Given the description of an element on the screen output the (x, y) to click on. 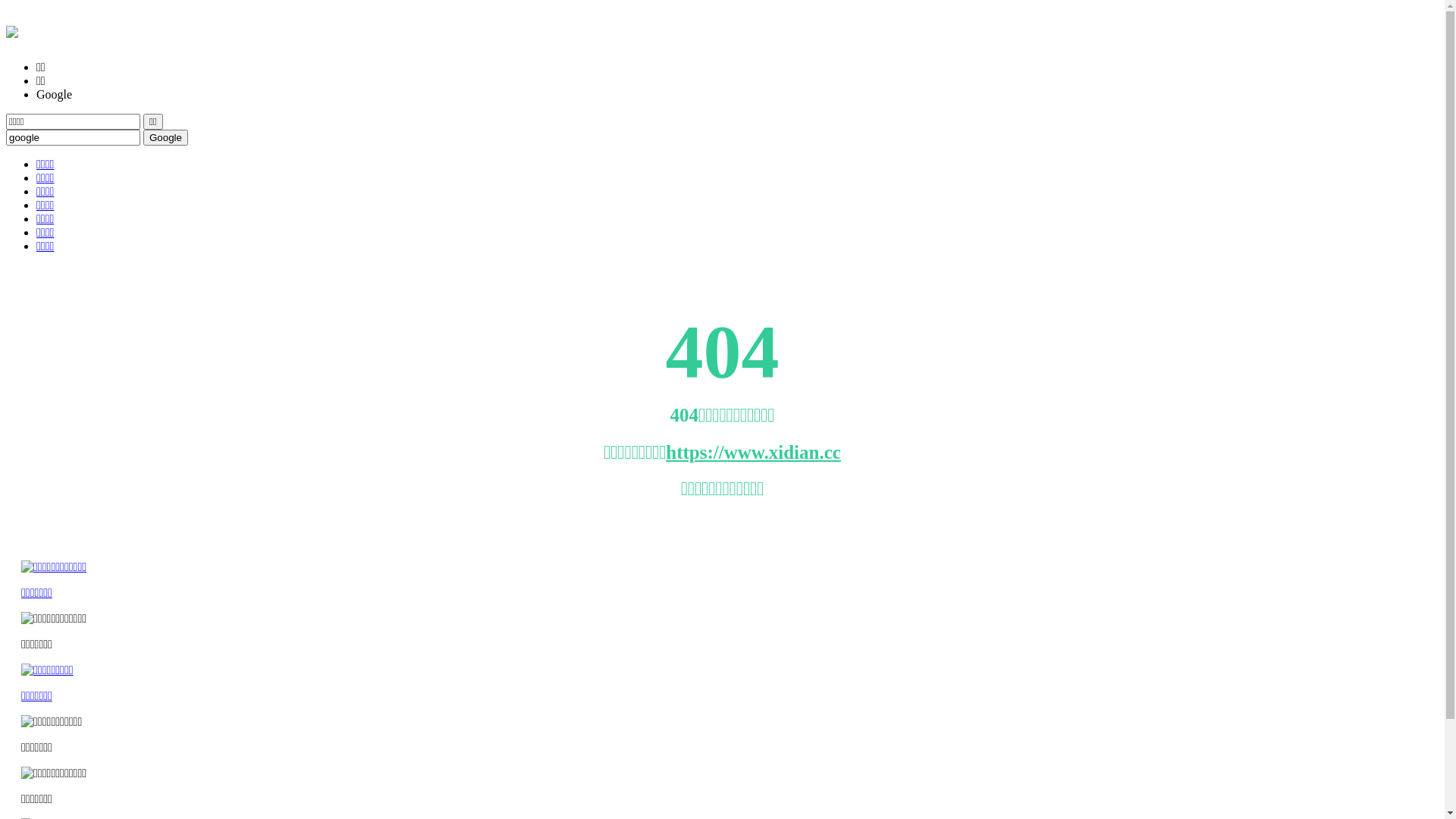
https://www.xidian.cc Element type: text (752, 452)
Google Element type: text (165, 137)
